Given the description of an element on the screen output the (x, y) to click on. 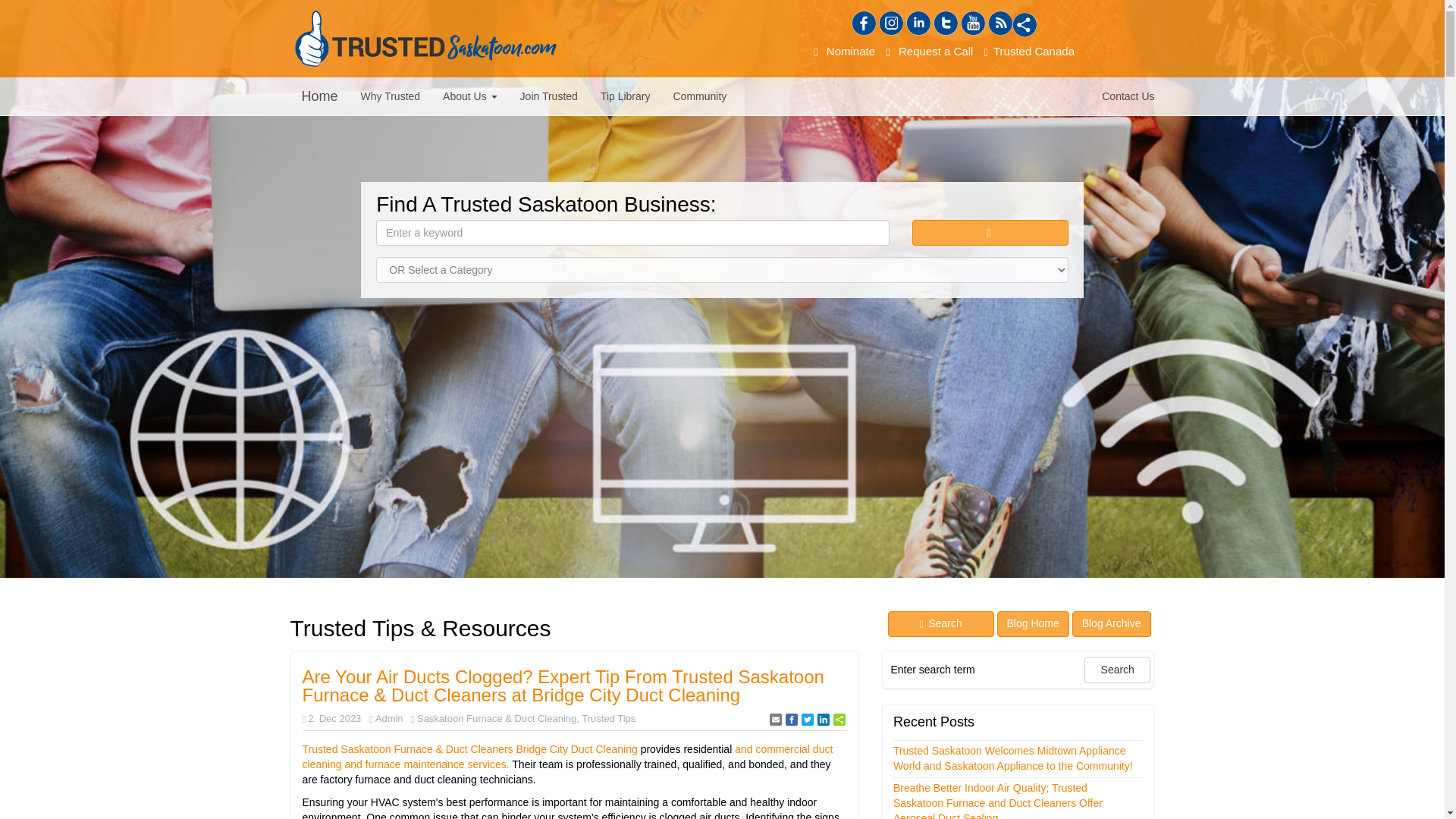
  Nominate (844, 51)
Blog Archive (1111, 623)
Blog Home (1032, 623)
YouTube (972, 23)
Follow us on Facebook (863, 23)
Linked In (917, 23)
Join Trusted (548, 95)
Contact Us (1128, 95)
Tip Library (625, 95)
Enter search term (984, 669)
Trusted Saskatoon (424, 38)
  Request a Call (929, 51)
Home (319, 95)
Search (1117, 669)
Why Trusted (390, 95)
